Given the description of an element on the screen output the (x, y) to click on. 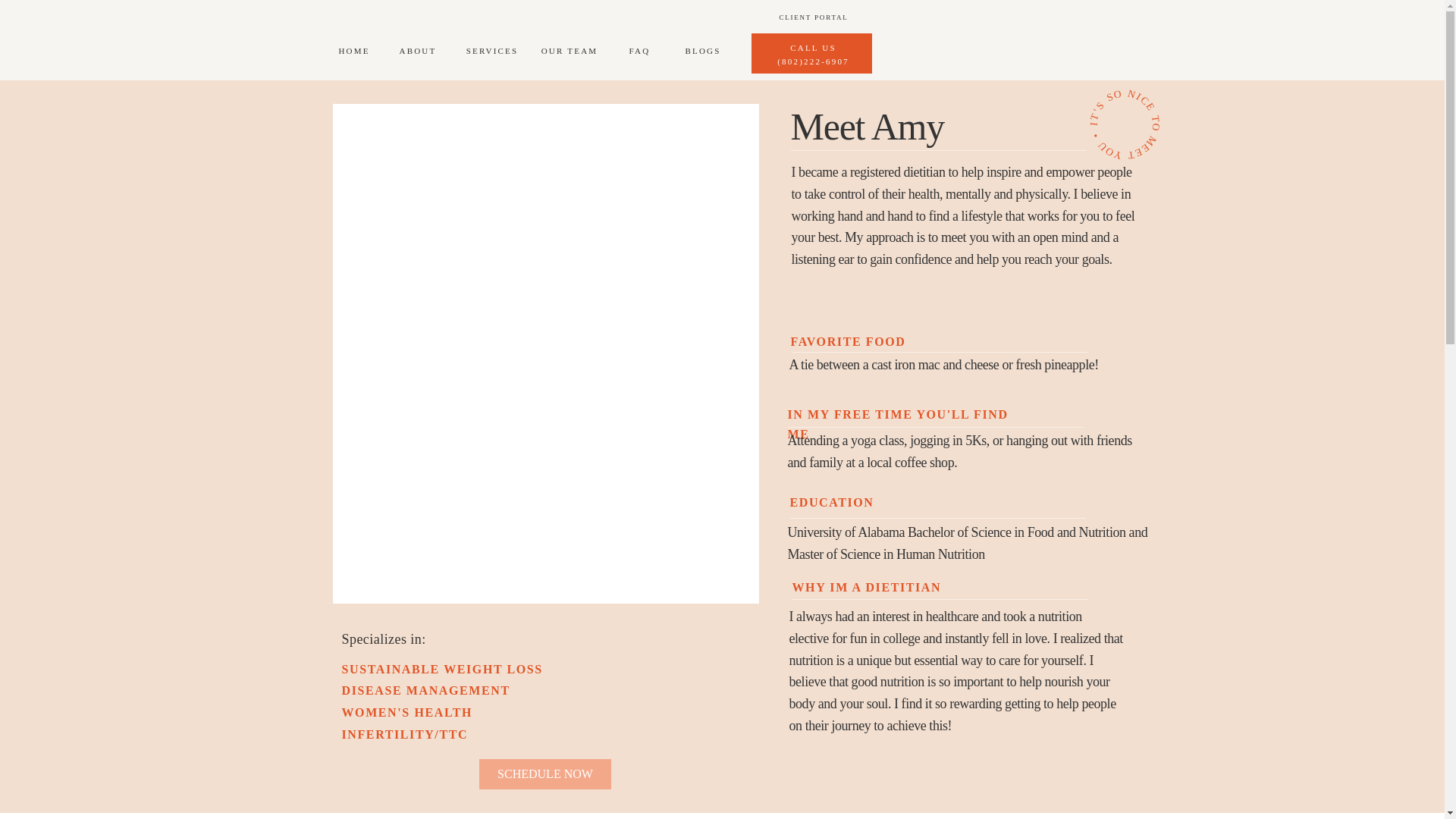
CLIENT PORTAL (813, 26)
ABOUT (417, 53)
BLOGS (702, 53)
FAQ (639, 53)
SERVICES (491, 53)
OUR TEAM (568, 53)
HOME (353, 53)
